Given the description of an element on the screen output the (x, y) to click on. 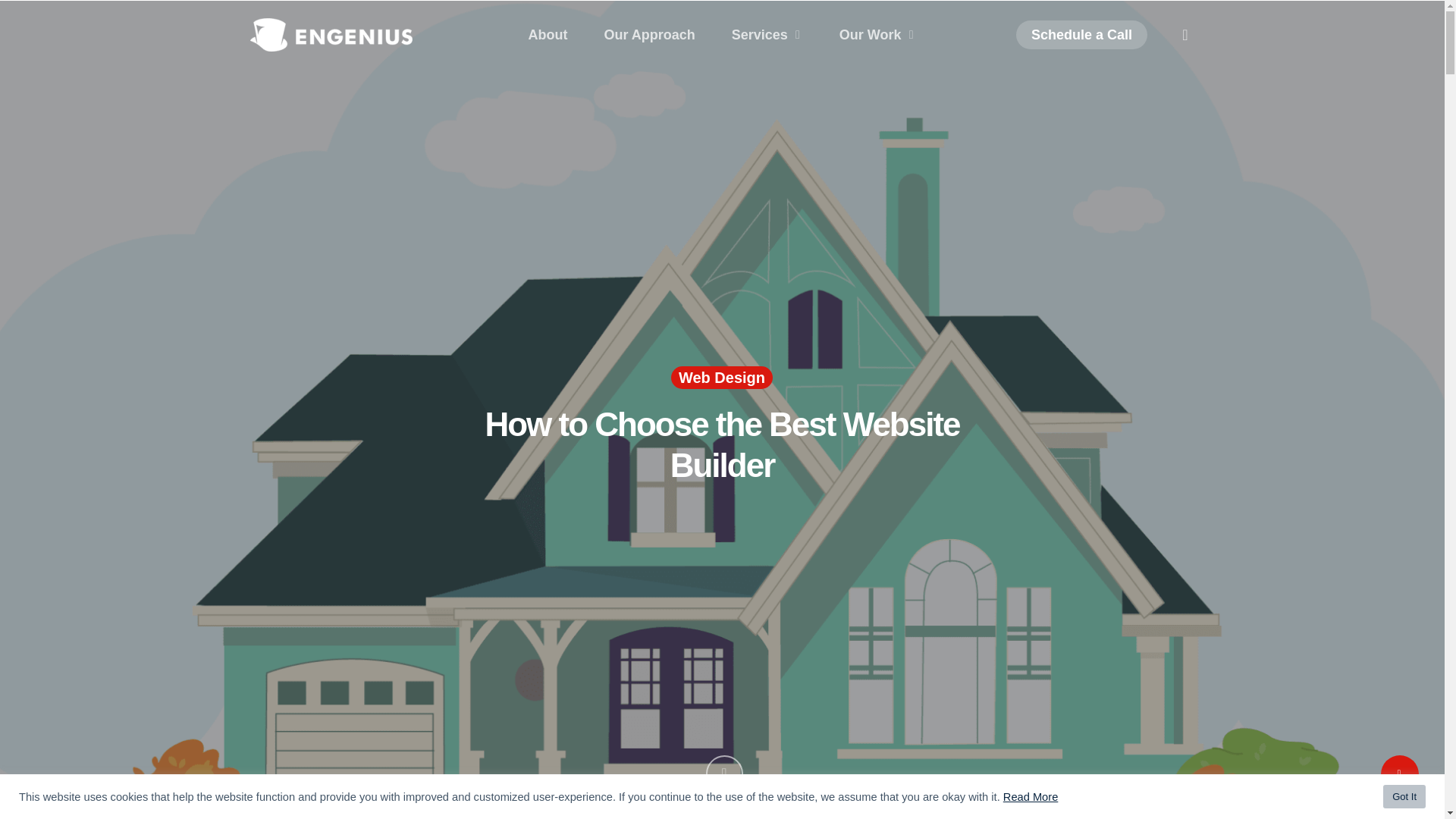
About (547, 34)
Schedule a Call (1081, 34)
Our Approach (649, 34)
Services (767, 34)
Web Design (722, 377)
Our Work (878, 34)
search (1184, 35)
